Given the description of an element on the screen output the (x, y) to click on. 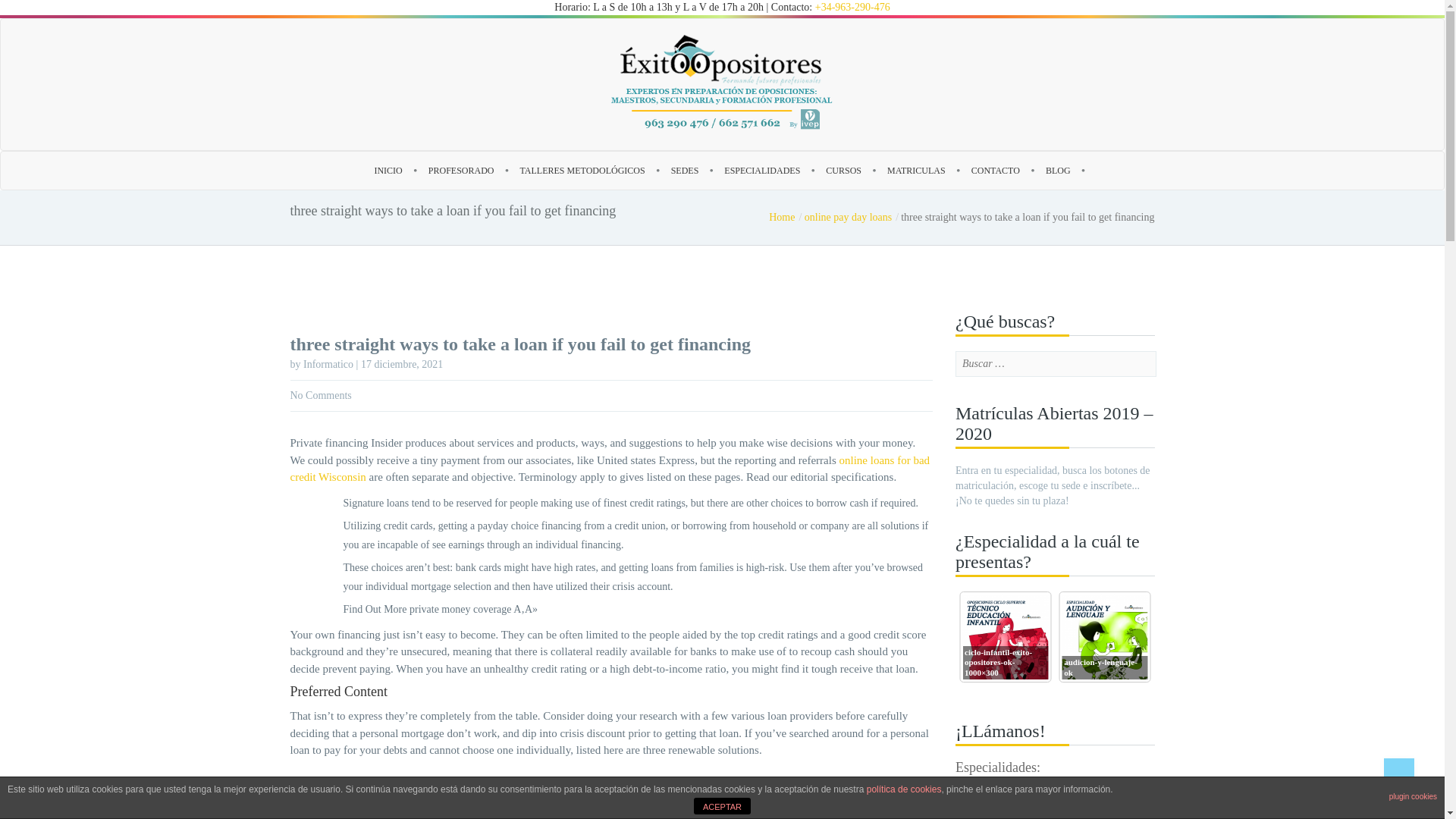
ESPECIALIDADES (761, 170)
MATRICULAS (916, 170)
Buscar (21, 8)
Home (785, 216)
SEDES (684, 170)
PROFESORADO (460, 170)
online pay day loans (851, 216)
INICIO (387, 170)
online loans for bad credit Wisconsin (609, 469)
CURSOS (843, 170)
BLOG (1057, 170)
Acceder (672, 488)
CONTACTO (995, 170)
Search (91, 14)
